Given the description of an element on the screen output the (x, y) to click on. 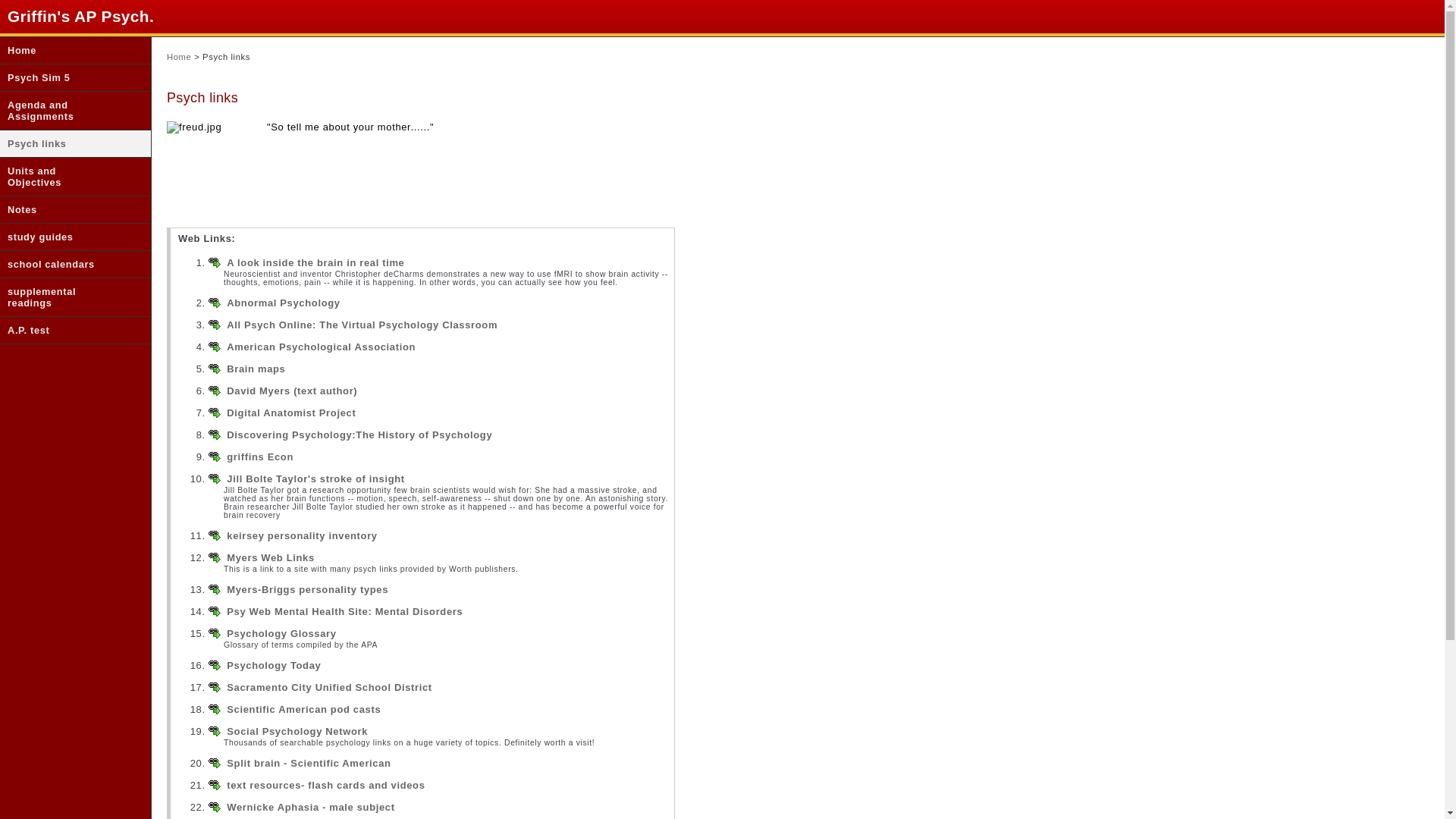
study guides (64, 236)
Notes (64, 209)
school calendars (64, 263)
griffins Econ (260, 456)
Home (64, 49)
Wernicke Aphasia - male subject (310, 807)
Psychology Today (273, 665)
Psy Web Mental Health Site: Mental Disorders (345, 611)
American Psychological Association (320, 346)
Agenda and Assignments (64, 110)
